Given the description of an element on the screen output the (x, y) to click on. 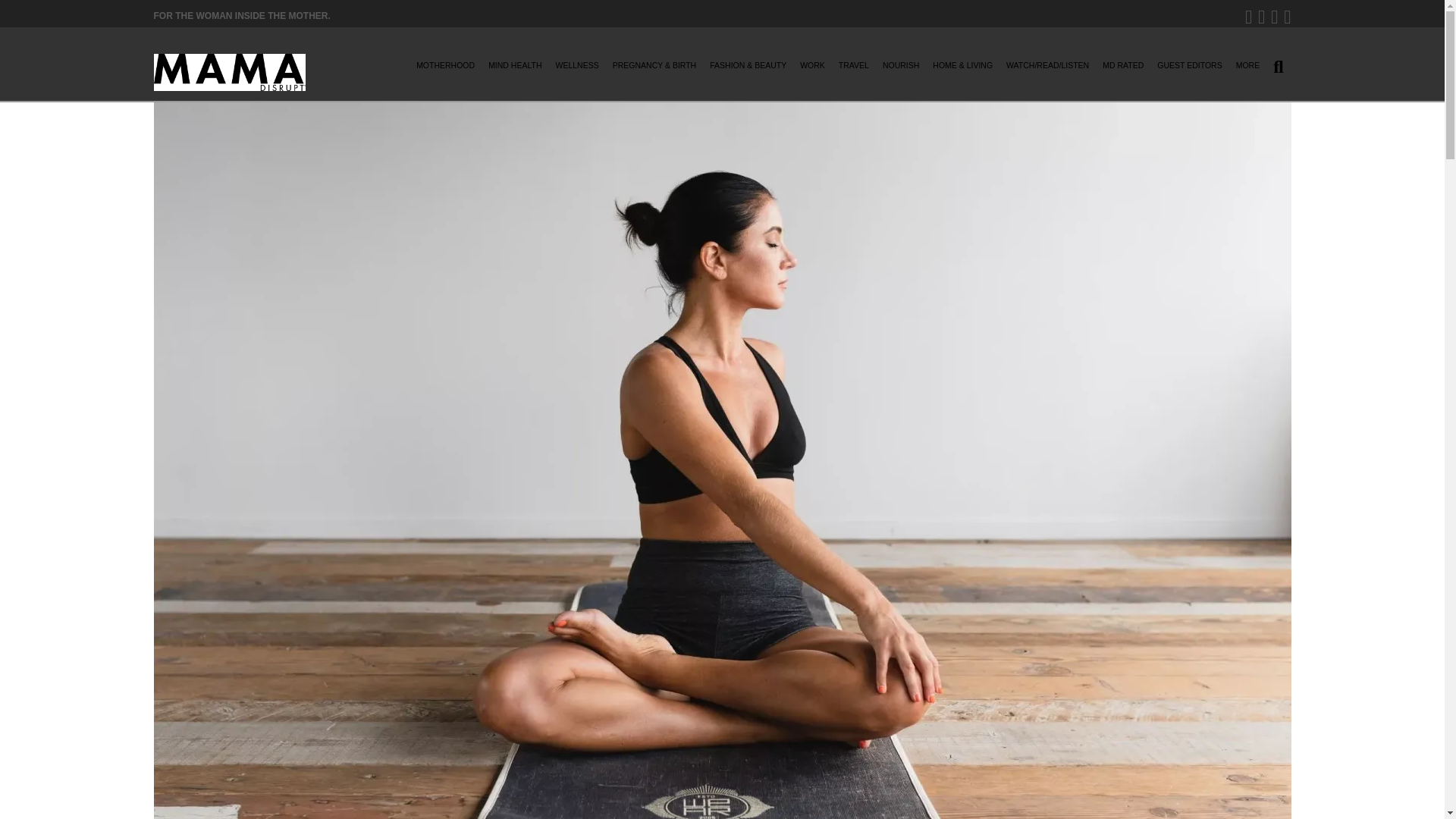
WELLNESS (577, 70)
MOTHERHOOD (445, 70)
MIND HEALTH (514, 70)
GUEST EDITORS (1189, 70)
